Given the description of an element on the screen output the (x, y) to click on. 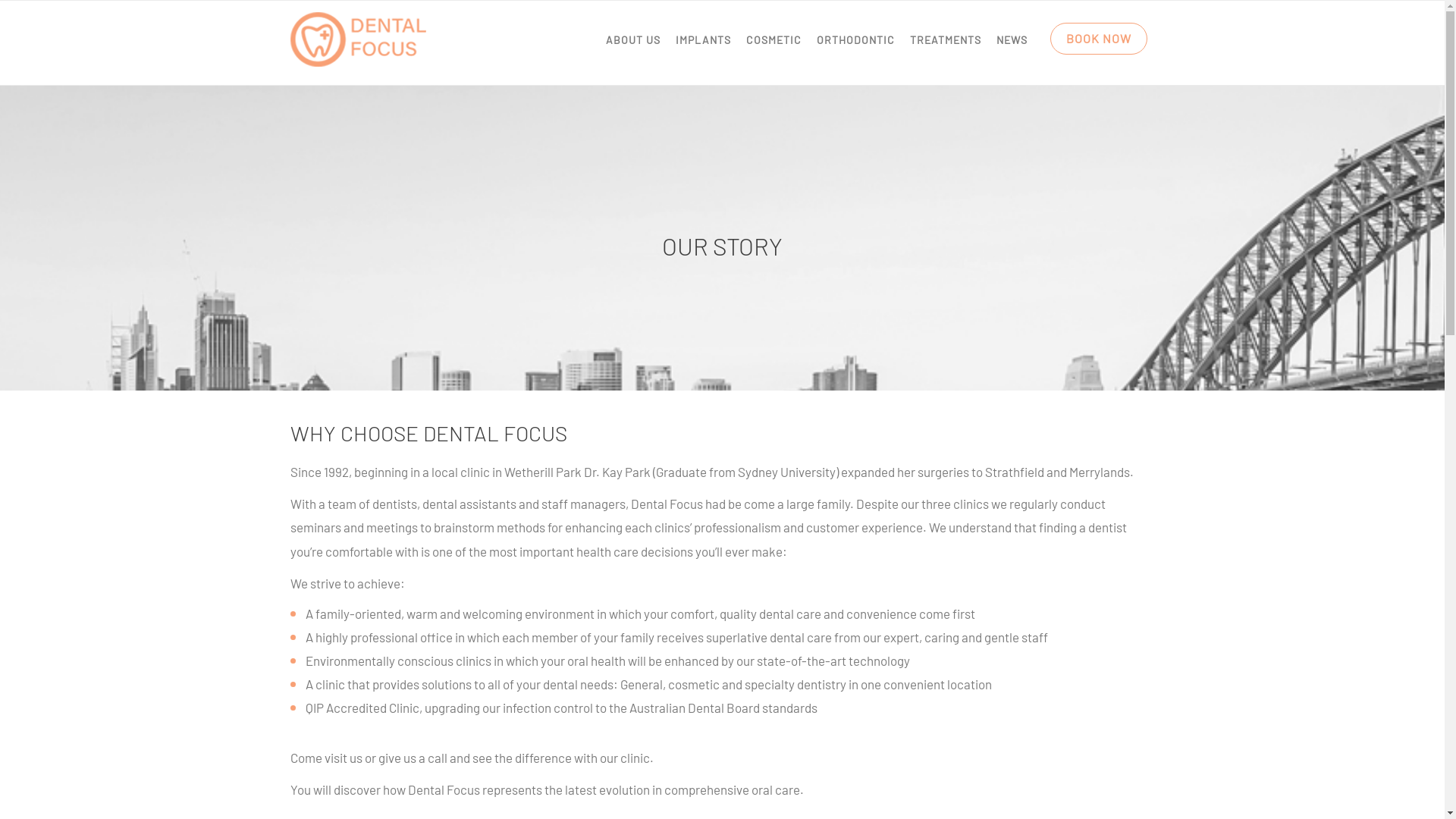
TREATMENTS Element type: text (945, 39)
IMPLANTS Element type: text (702, 39)
NEWS Element type: text (1011, 39)
COSMETIC Element type: text (773, 39)
Home Element type: text (357, 42)
ABOUT US Element type: text (632, 39)
ORTHODONTIC Element type: text (854, 39)
BOOK NOW Element type: text (1097, 38)
